Given the description of an element on the screen output the (x, y) to click on. 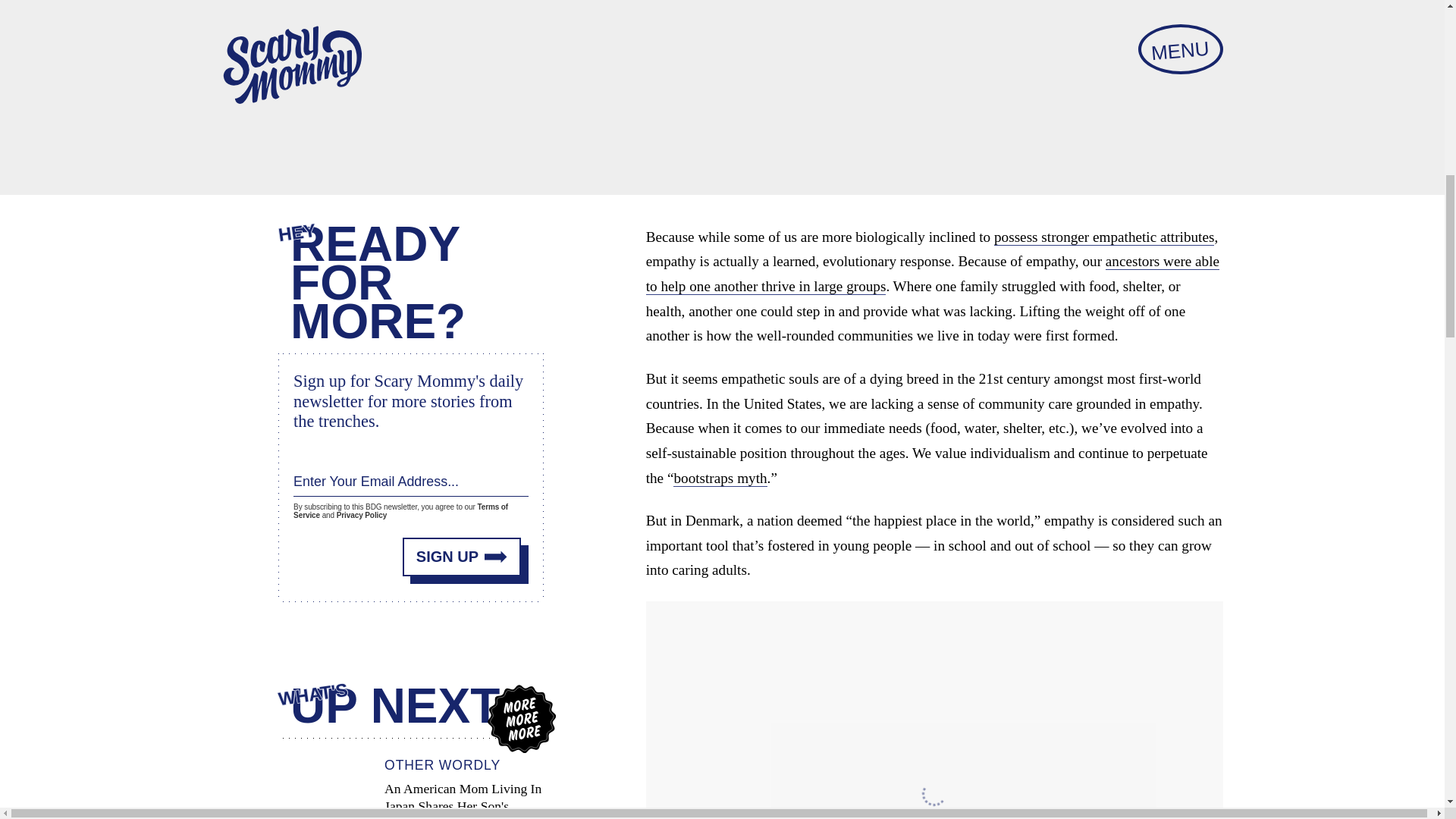
Terms of Service (401, 510)
possess stronger empathetic attributes (1104, 237)
Privacy Policy (361, 515)
bootstraps myth (719, 478)
SIGN UP (462, 556)
